Given the description of an element on the screen output the (x, y) to click on. 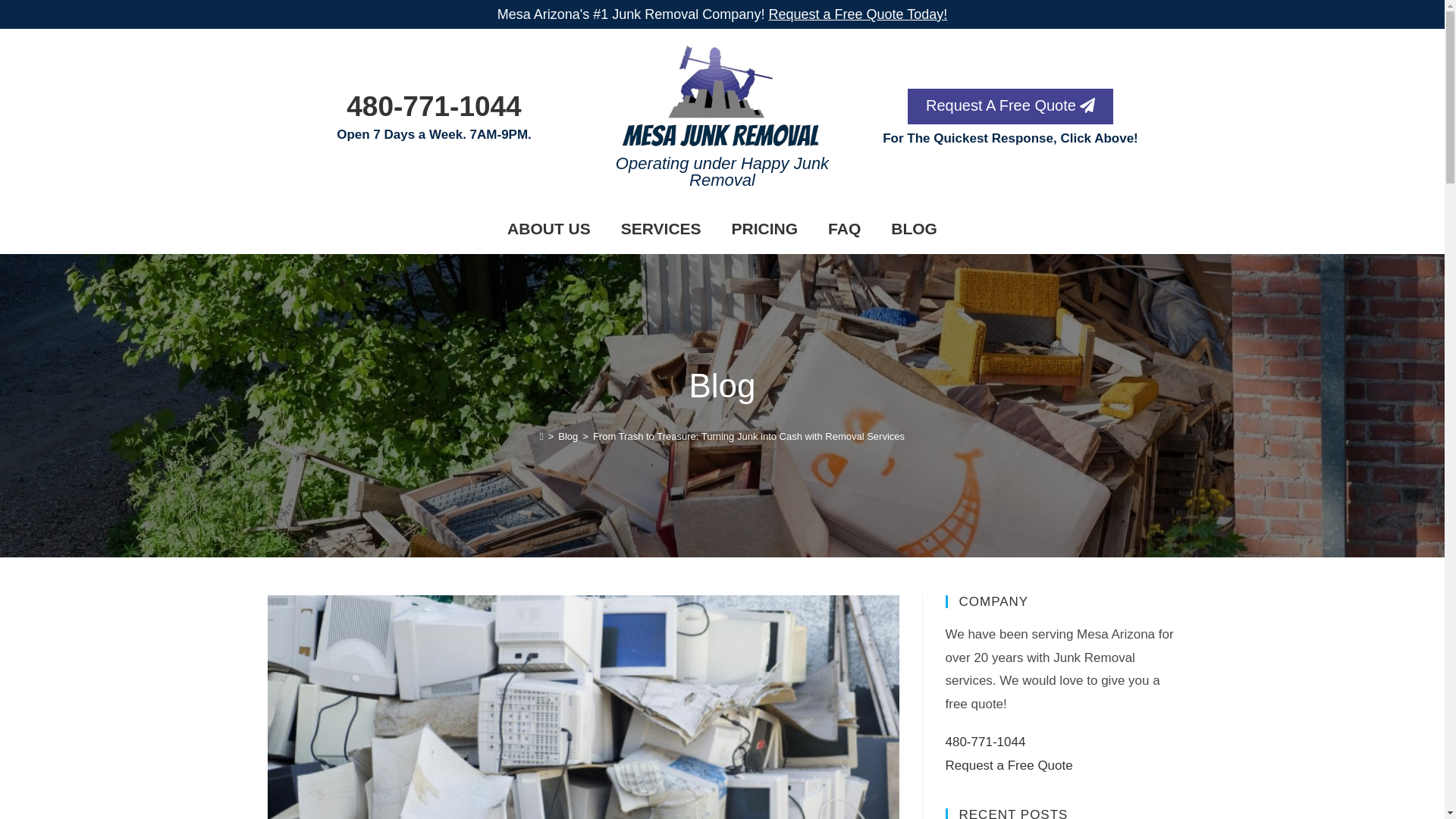
SERVICES (660, 228)
480-771-1044 (433, 106)
BLOG (914, 228)
FAQ (844, 228)
ABOUT US (548, 228)
Request A Free Quote (1010, 105)
Blog (567, 436)
PRICING (764, 228)
